Given the description of an element on the screen output the (x, y) to click on. 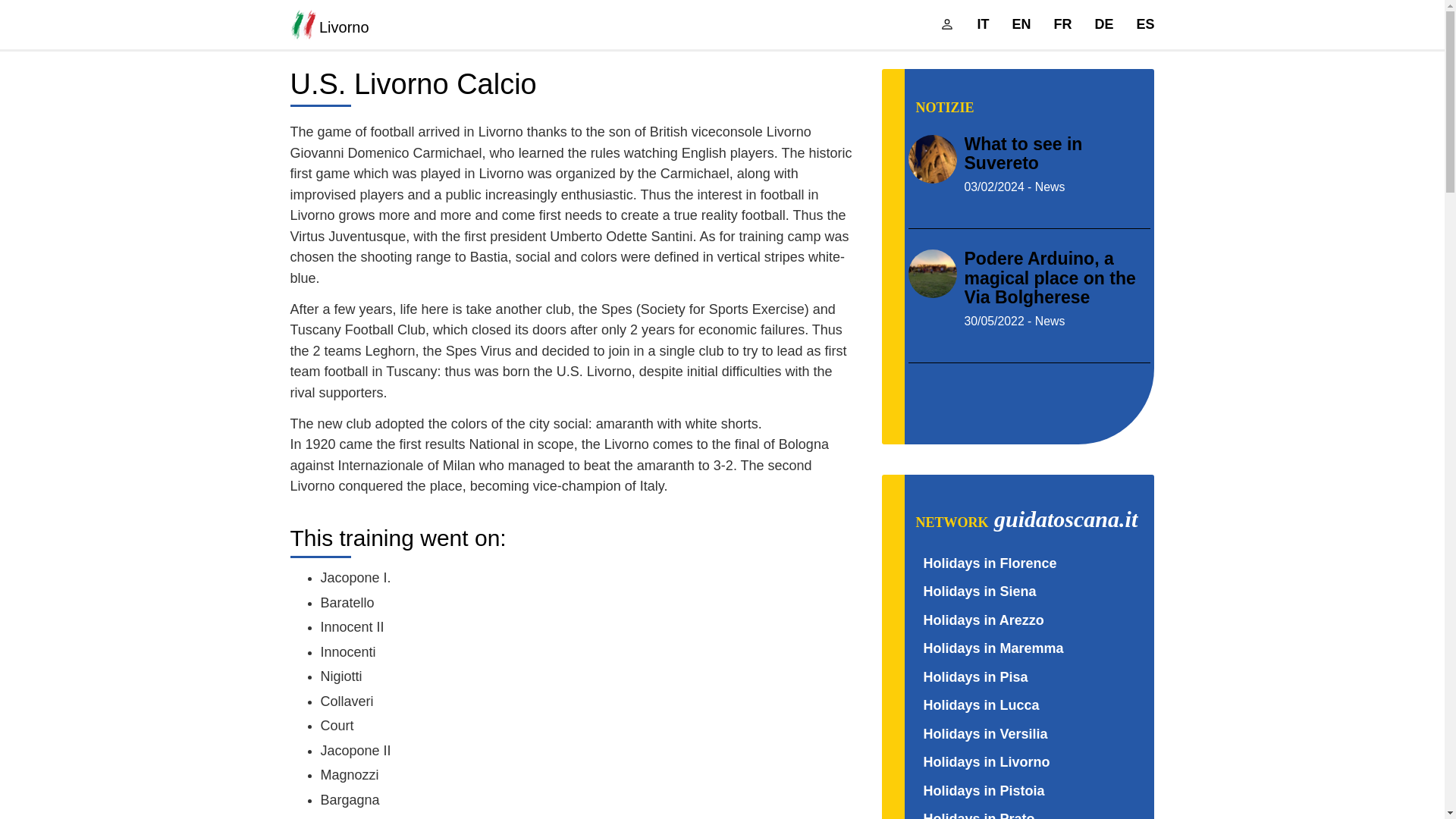
Holidays in Siena (979, 590)
Holidays in Pistoia (984, 790)
Holidays in Arezzo (983, 620)
Holidays in Versilia (985, 734)
Holidays in Florence (990, 563)
Holidays in Florence (990, 563)
Holidays in Maremma (993, 648)
Holidays in Prato (979, 815)
Podere Arduino, a magical place on the Via Bolgherese (1049, 277)
Livorno (374, 24)
Holidays in Pisa (975, 676)
Holidays in Lucca (981, 704)
Holidays in Livorno (986, 761)
Holidays in Livorno (986, 761)
Holidays in Lucca (981, 704)
